Given the description of an element on the screen output the (x, y) to click on. 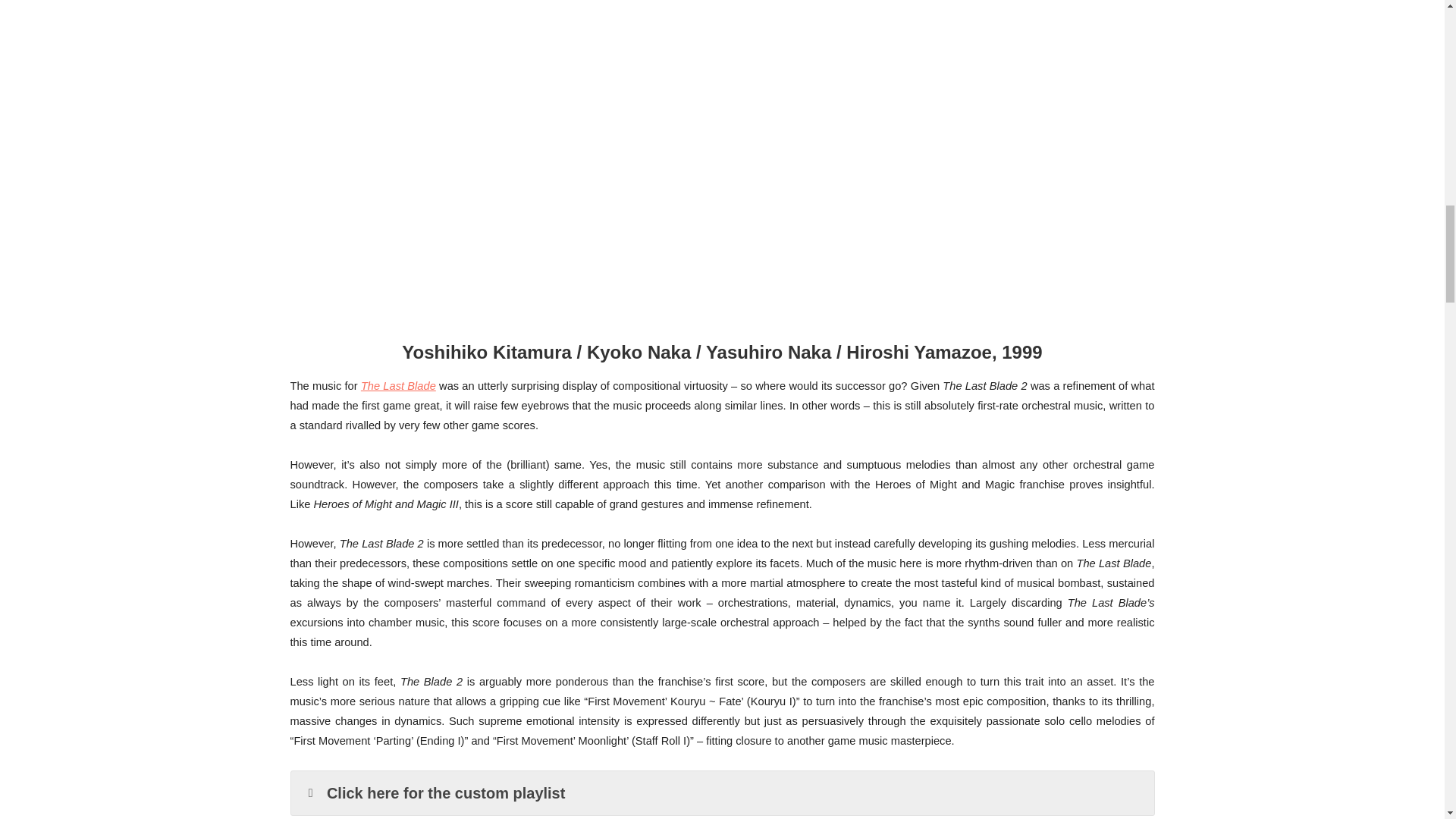
Click here for the custom playlist (722, 792)
The Last Blade (398, 386)
